Given the description of an element on the screen output the (x, y) to click on. 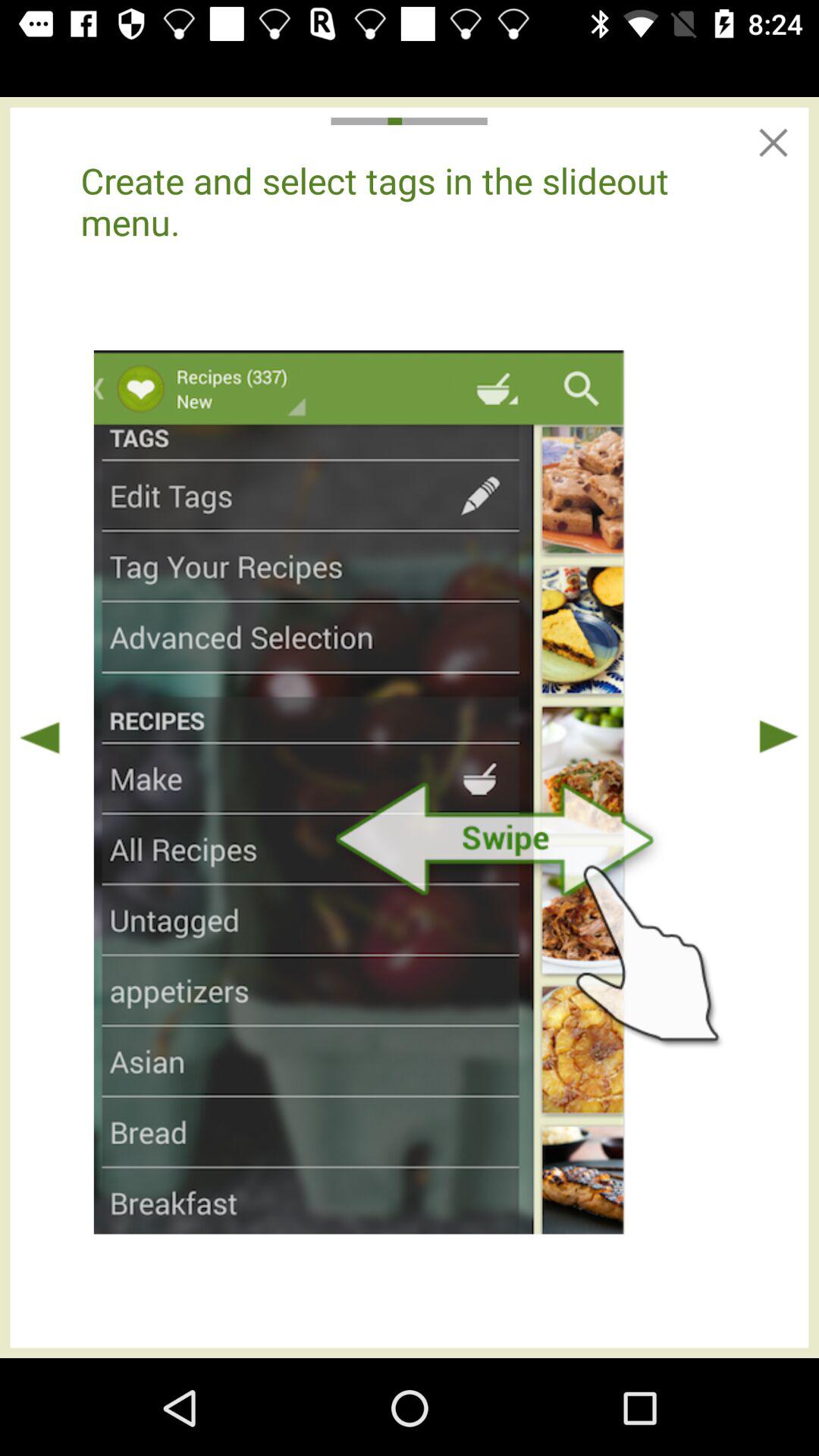
prior instruction page (40, 736)
